Given the description of an element on the screen output the (x, y) to click on. 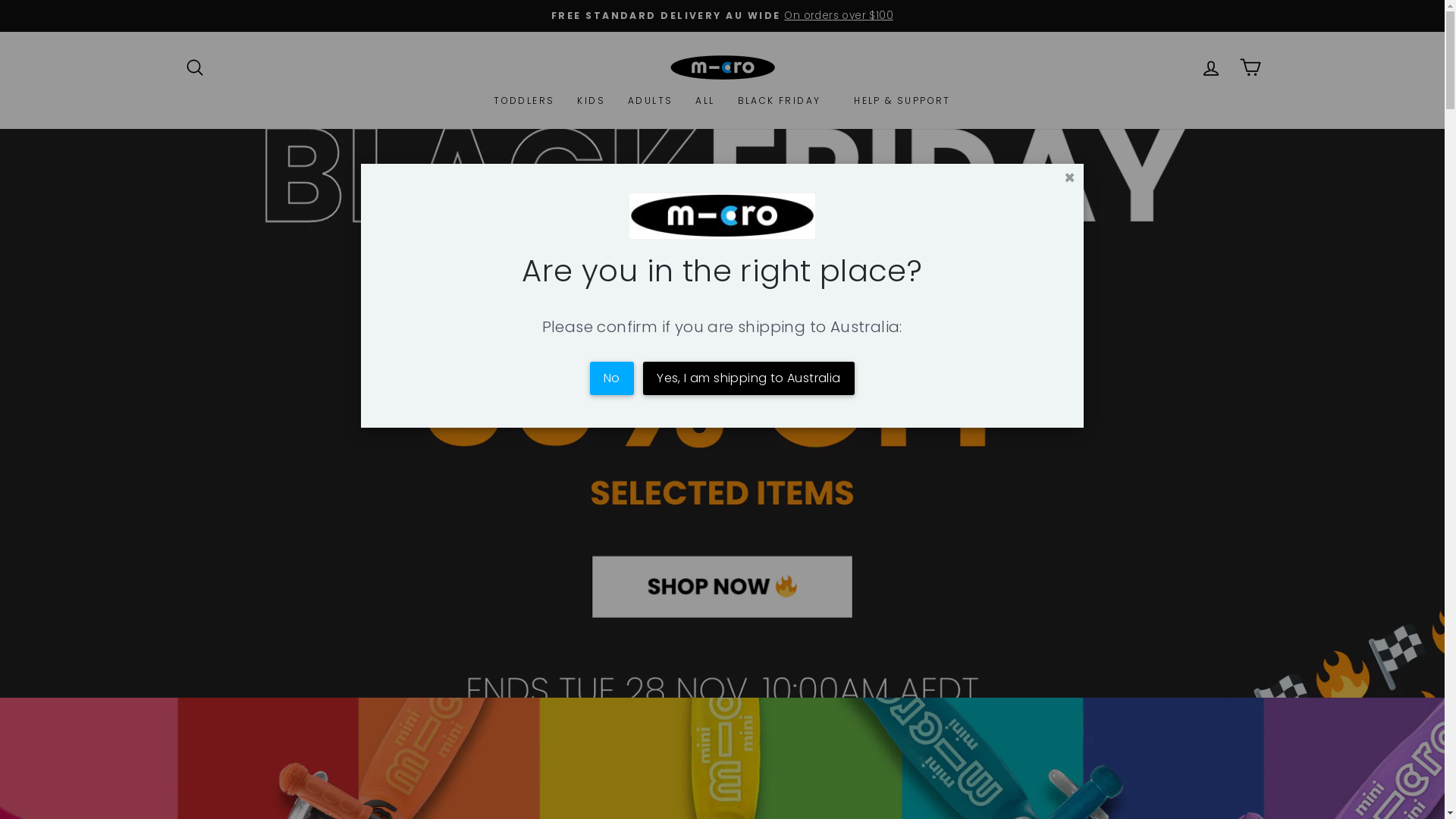
Skip to content Element type: text (0, 0)
HELP & SUPPORT Element type: text (902, 100)
PRICE MATCH PROMISEWe'll match it. Element type: text (722, 15)
KIDS Element type: text (590, 100)
ALL Element type: text (704, 100)
TODDLERS Element type: text (523, 100)
ADULTS Element type: text (650, 100)
SEARCH Element type: text (193, 66)
No Element type: text (611, 378)
CART Element type: text (1249, 66)
LOG IN Element type: text (1210, 66)
